Given the description of an element on the screen output the (x, y) to click on. 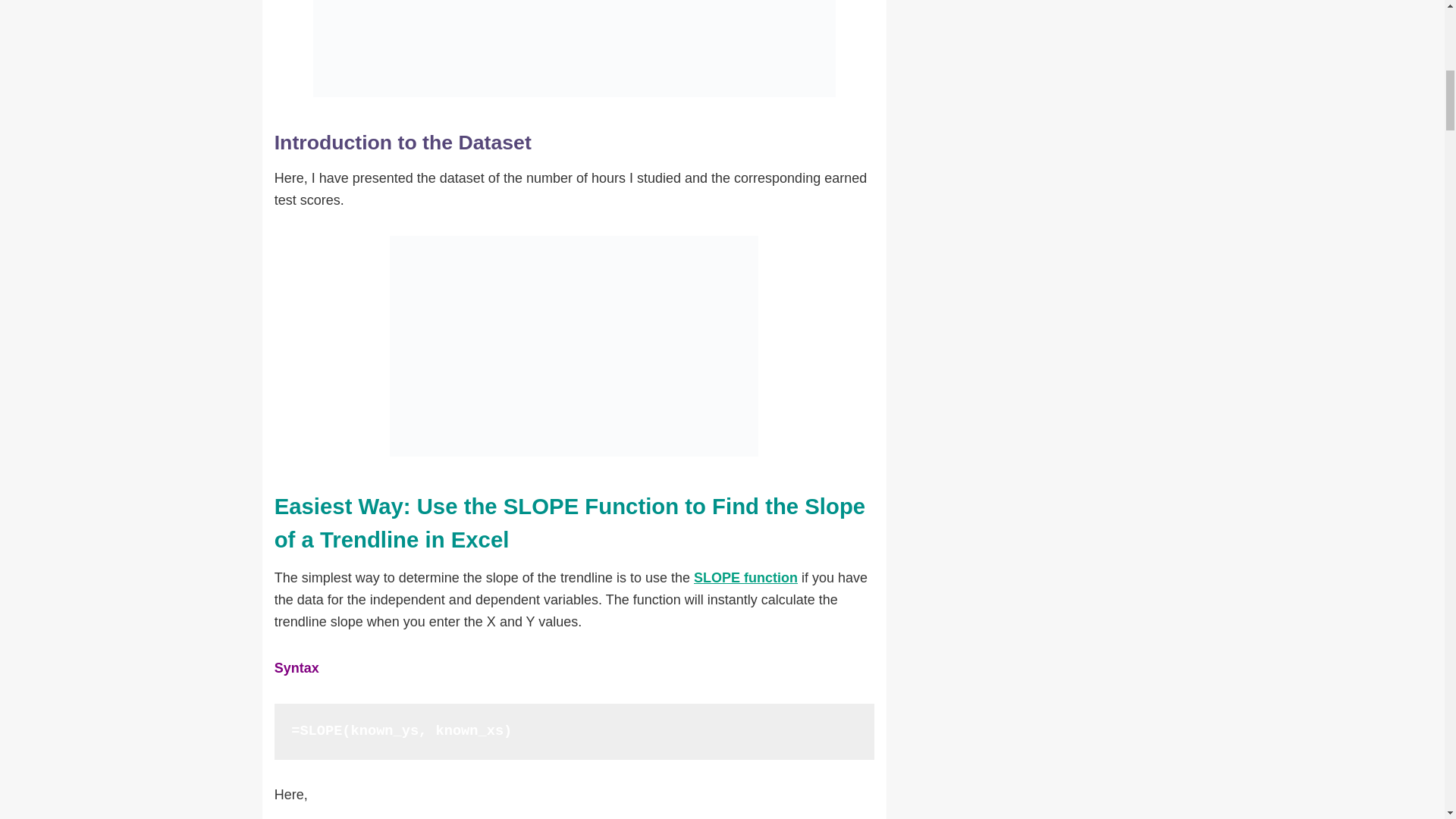
SLOPE function (745, 577)
